Given the description of an element on the screen output the (x, y) to click on. 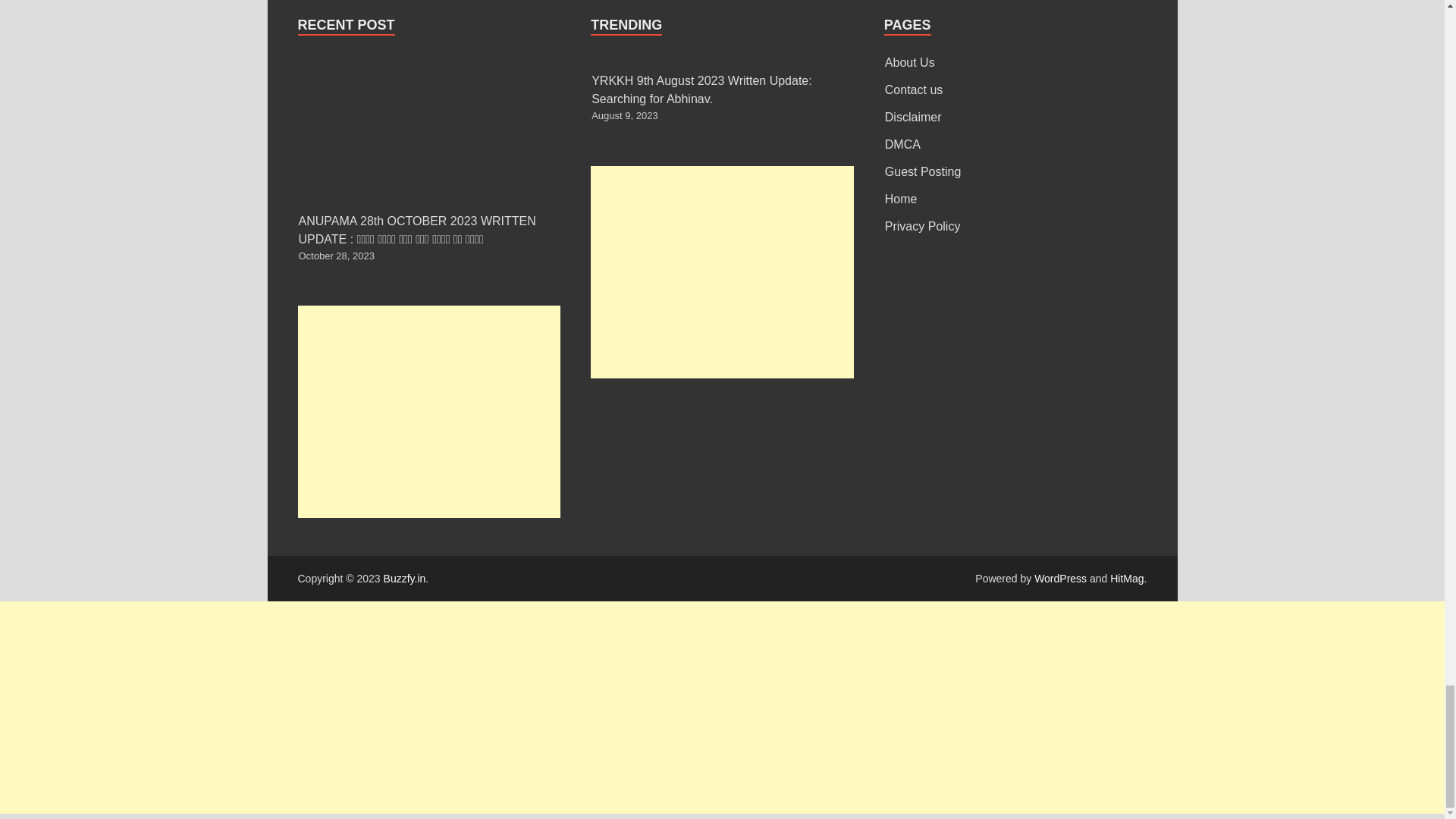
About Us (909, 62)
YRKKH 9th August 2023 Written Update: Searching for Abhinav. (701, 89)
Buzzfy.in (405, 578)
WordPress (1059, 578)
